Given the description of an element on the screen output the (x, y) to click on. 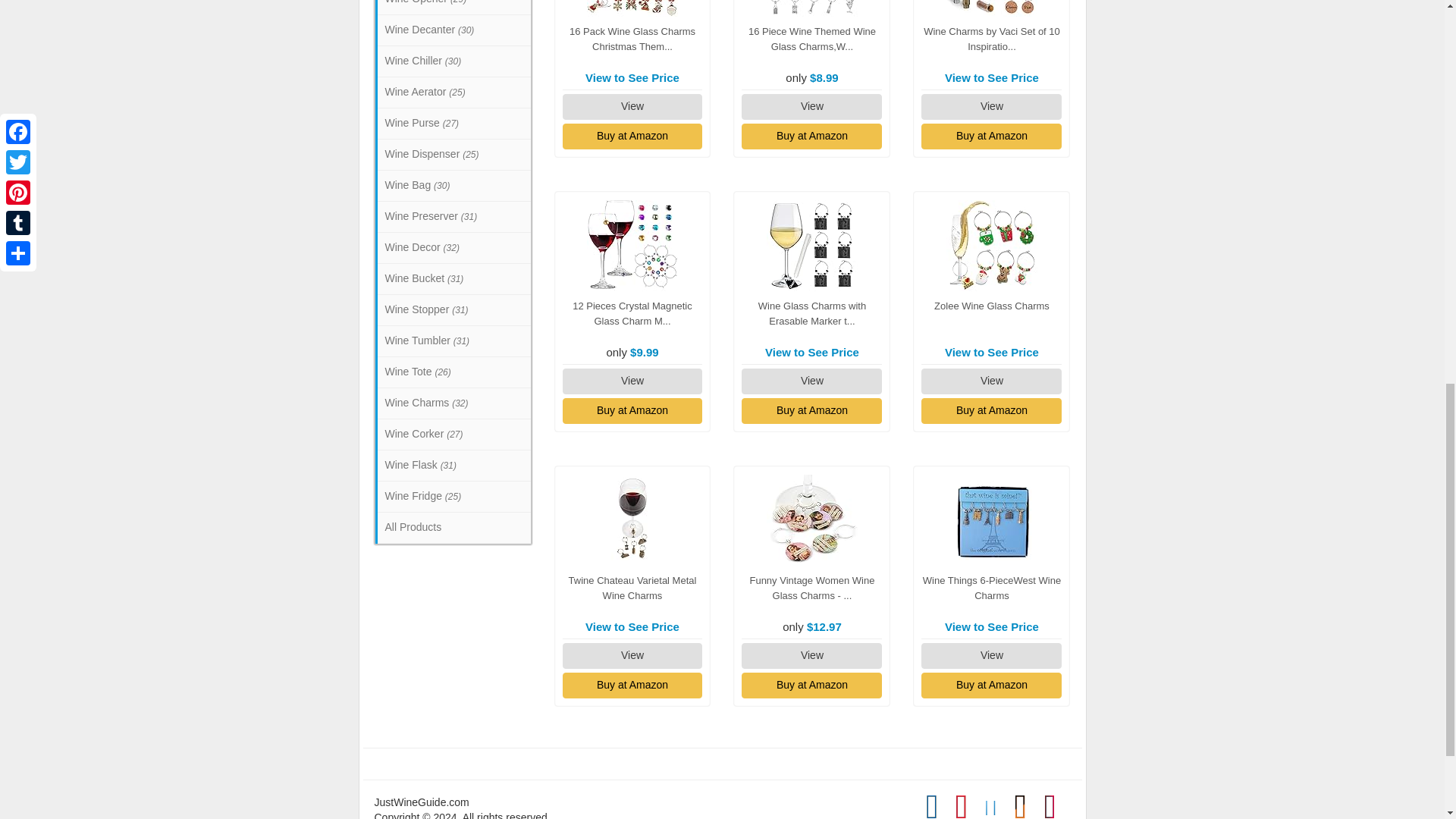
Twine Chateau Varietal Metal Wine Charms (632, 520)
Wine Charms by Vaci Set of 10 Inspiratio... (991, 38)
16 Pack Wine Glass Charms Christmas Them... (632, 38)
Wine Things 6-PieceWest Wine Charms (991, 520)
View (991, 106)
Buy at Amazon (811, 136)
16 Piece Wine Themed Wine Glass Charms,W... (812, 38)
View (632, 106)
12 Pieces Crystal Magnetic Glass Charm M... (632, 313)
Buy at Amazon (991, 136)
Zolee Wine Glass Charms (991, 245)
